Given the description of an element on the screen output the (x, y) to click on. 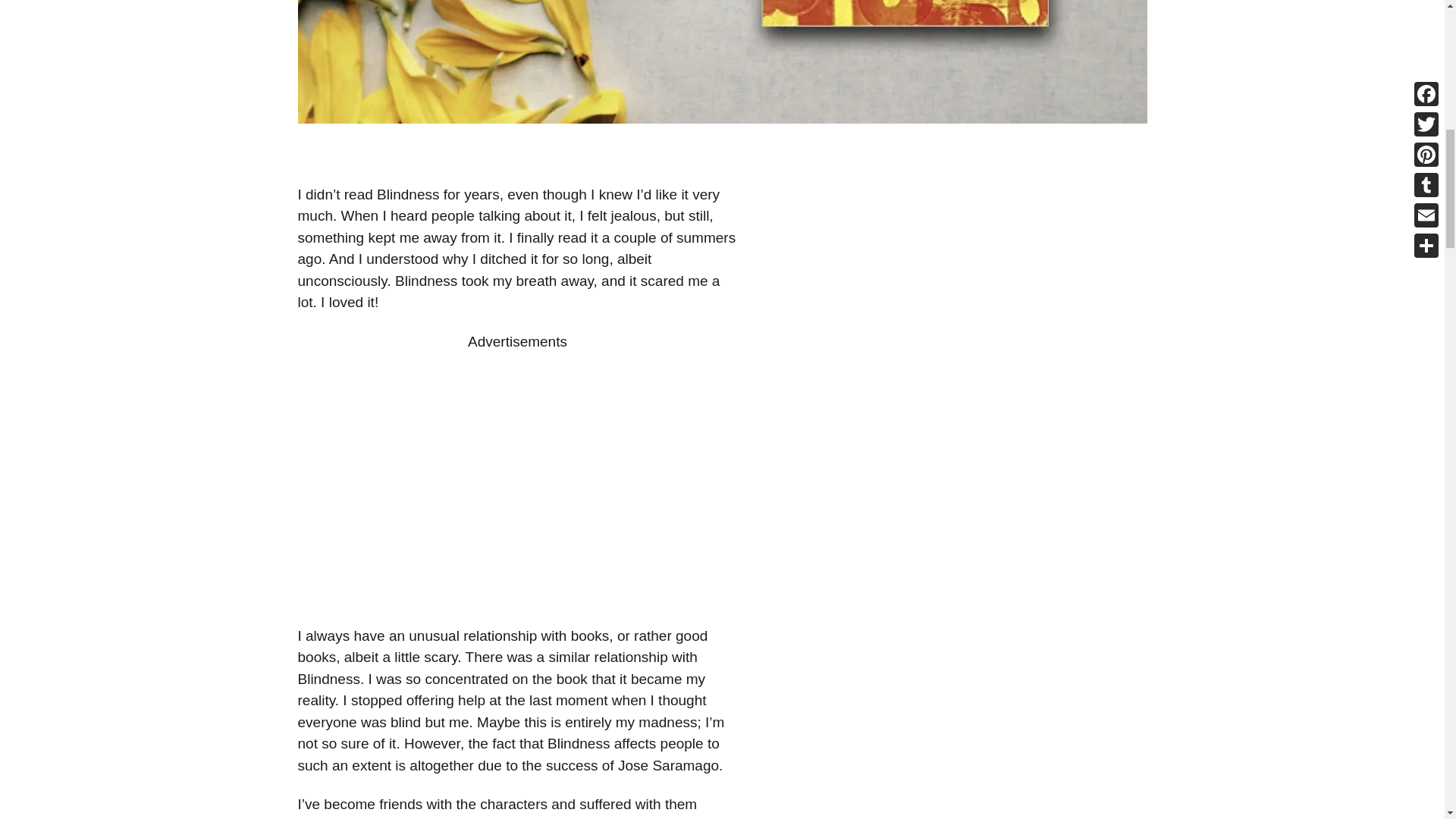
Blindness - Jose Saramago 1 (722, 61)
